Given the description of an element on the screen output the (x, y) to click on. 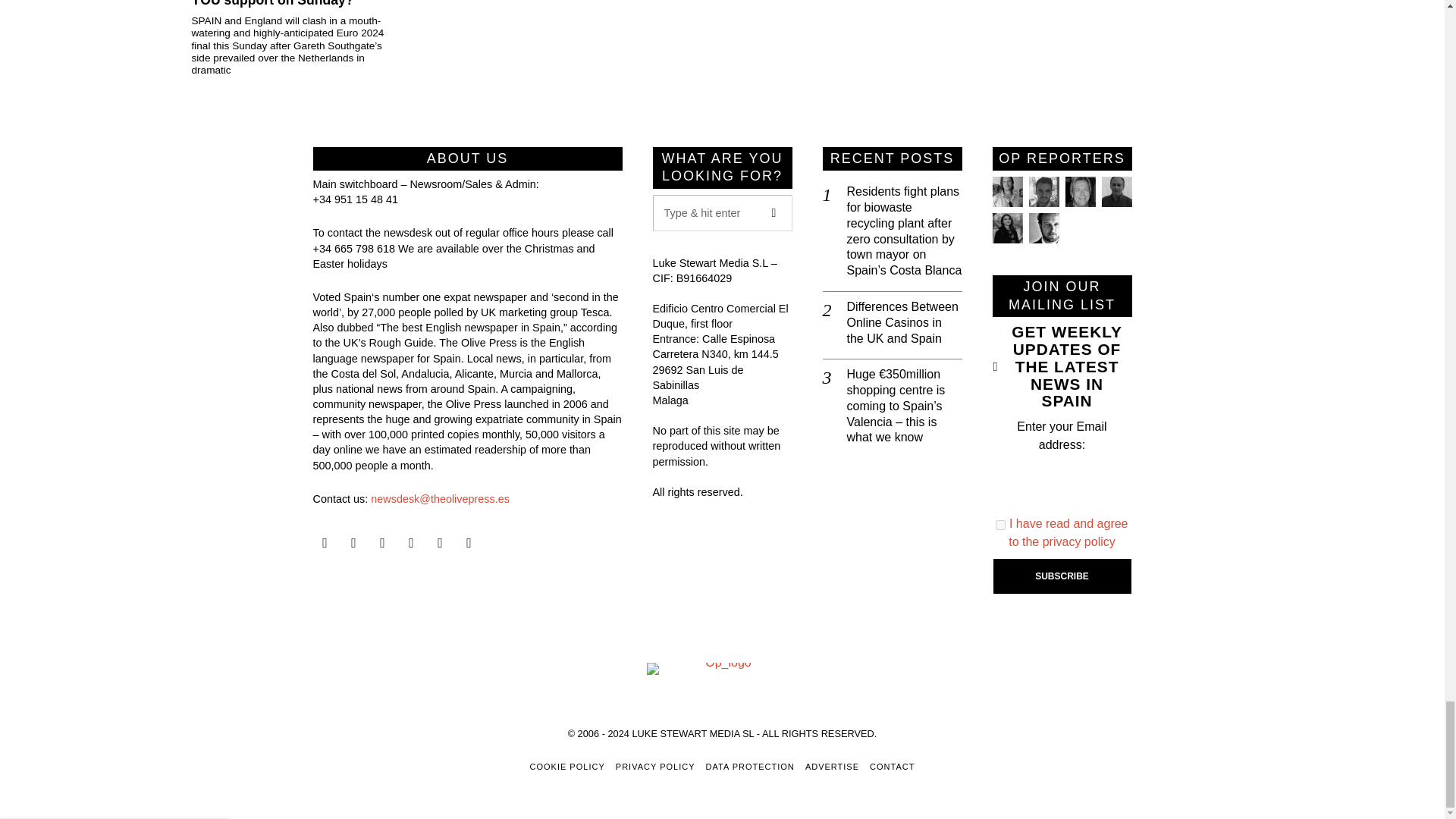
Alex Trelinski (1079, 191)
1 (1000, 524)
SUBSCRIBE (1061, 575)
Dilip Kuner (1115, 191)
Go (773, 212)
Laurence Dollimore (1042, 191)
